Given the description of an element on the screen output the (x, y) to click on. 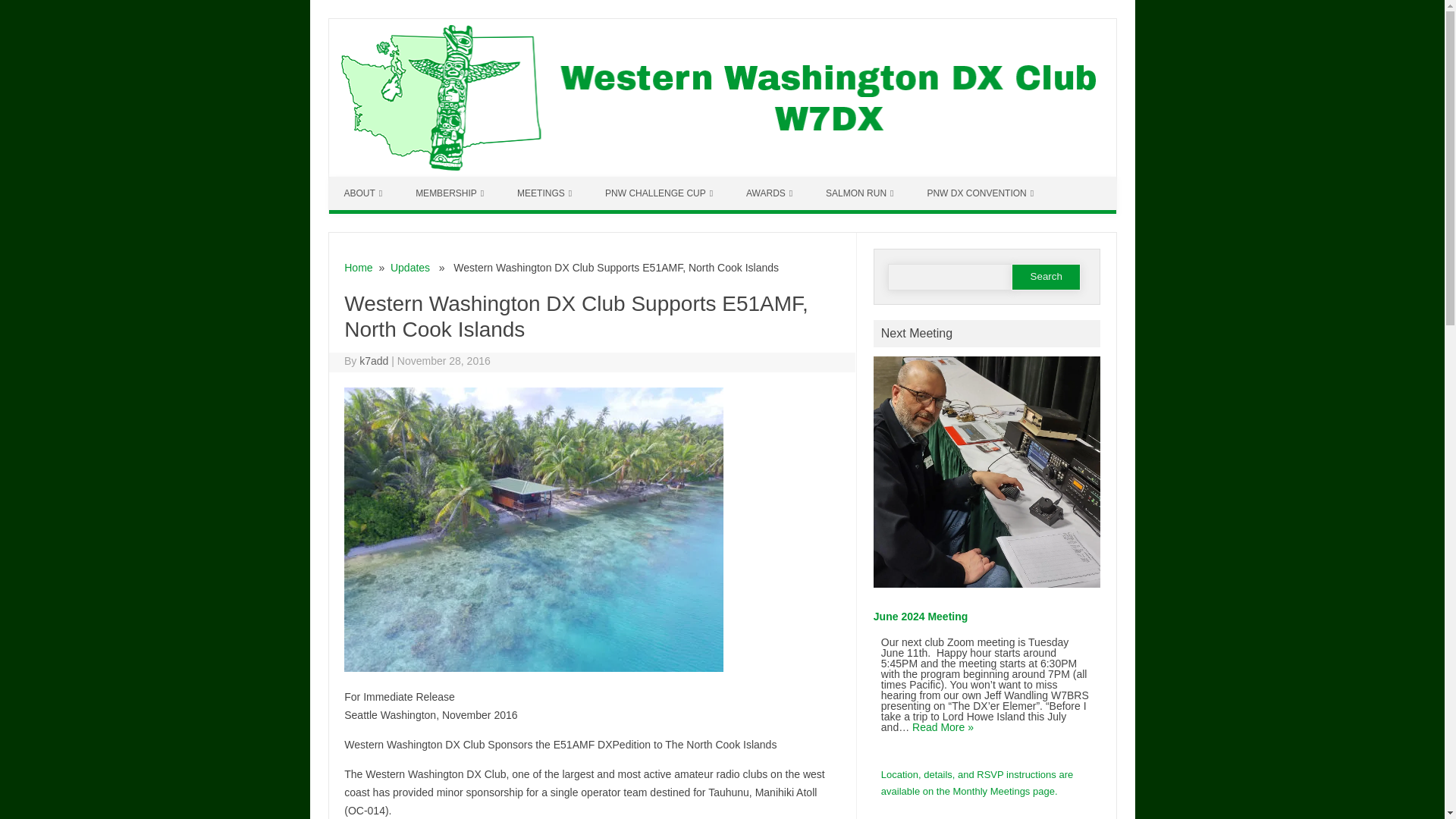
PNW CHALLENGE CUP (658, 192)
Updates (409, 267)
Search (1045, 276)
Home (357, 267)
SALMON RUN (859, 192)
k7add (373, 360)
MEMBERSHIP (449, 192)
AWARDS (769, 192)
Western Washington DX Club (722, 173)
ABOUT (363, 192)
MEETINGS (544, 192)
Skip to content (363, 181)
PNW DX CONVENTION (979, 192)
Skip to content (363, 181)
Posts by k7add (373, 360)
